Given the description of an element on the screen output the (x, y) to click on. 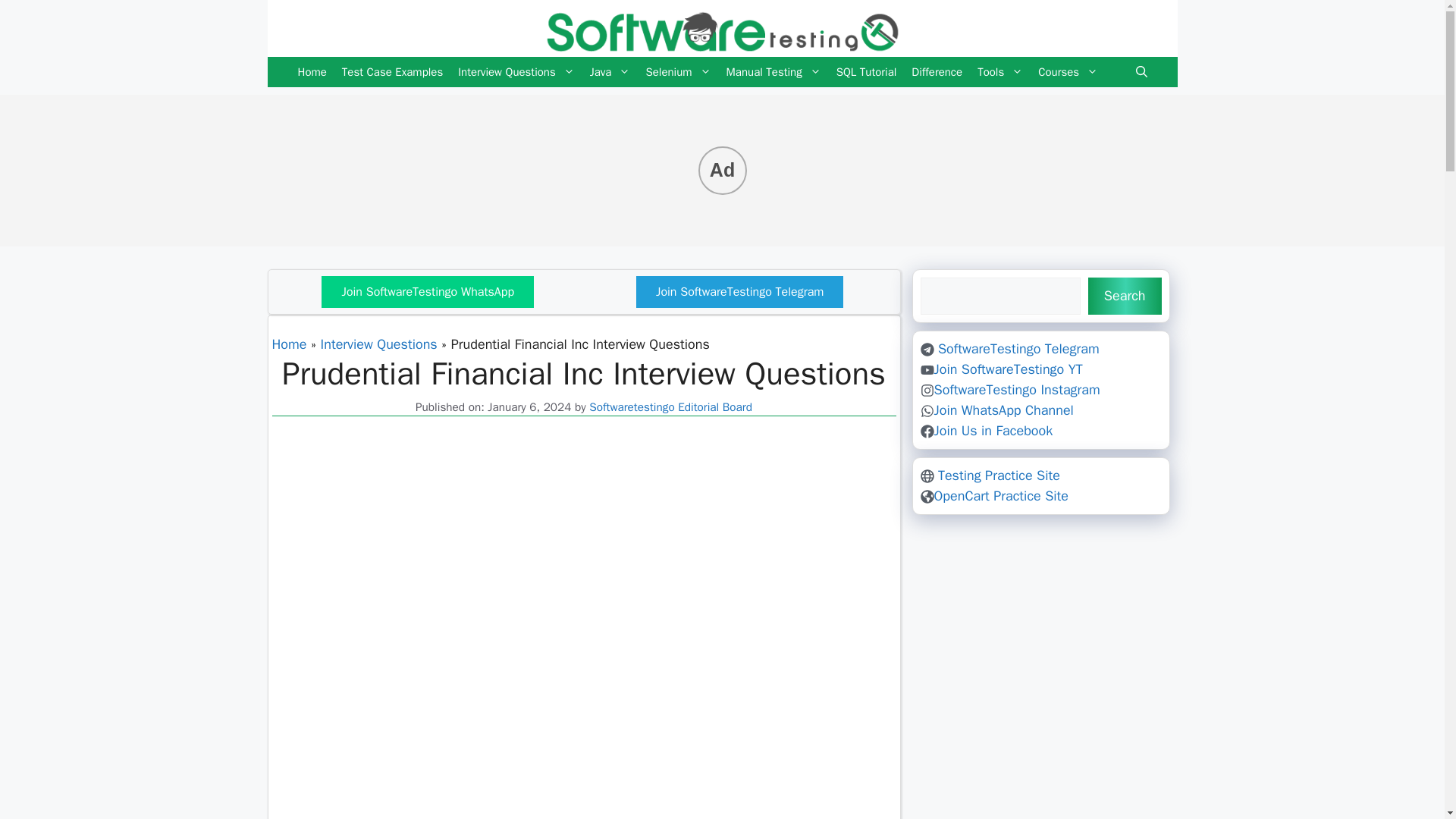
Join SoftwareTestingo WhatsApp (427, 291)
Difference (936, 71)
Softwaretestingo Editorial Board (670, 406)
Interview Questions (379, 343)
Interview Questions (515, 71)
Advertisement (583, 619)
Java (610, 71)
View all posts by Softwaretestingo Editorial Board (670, 406)
Courses (1067, 71)
SQL Tutorial (866, 71)
Join SoftwareTestingo Telegram (739, 291)
Home (311, 71)
Home (287, 343)
Tools (999, 71)
Selenium (677, 71)
